Given the description of an element on the screen output the (x, y) to click on. 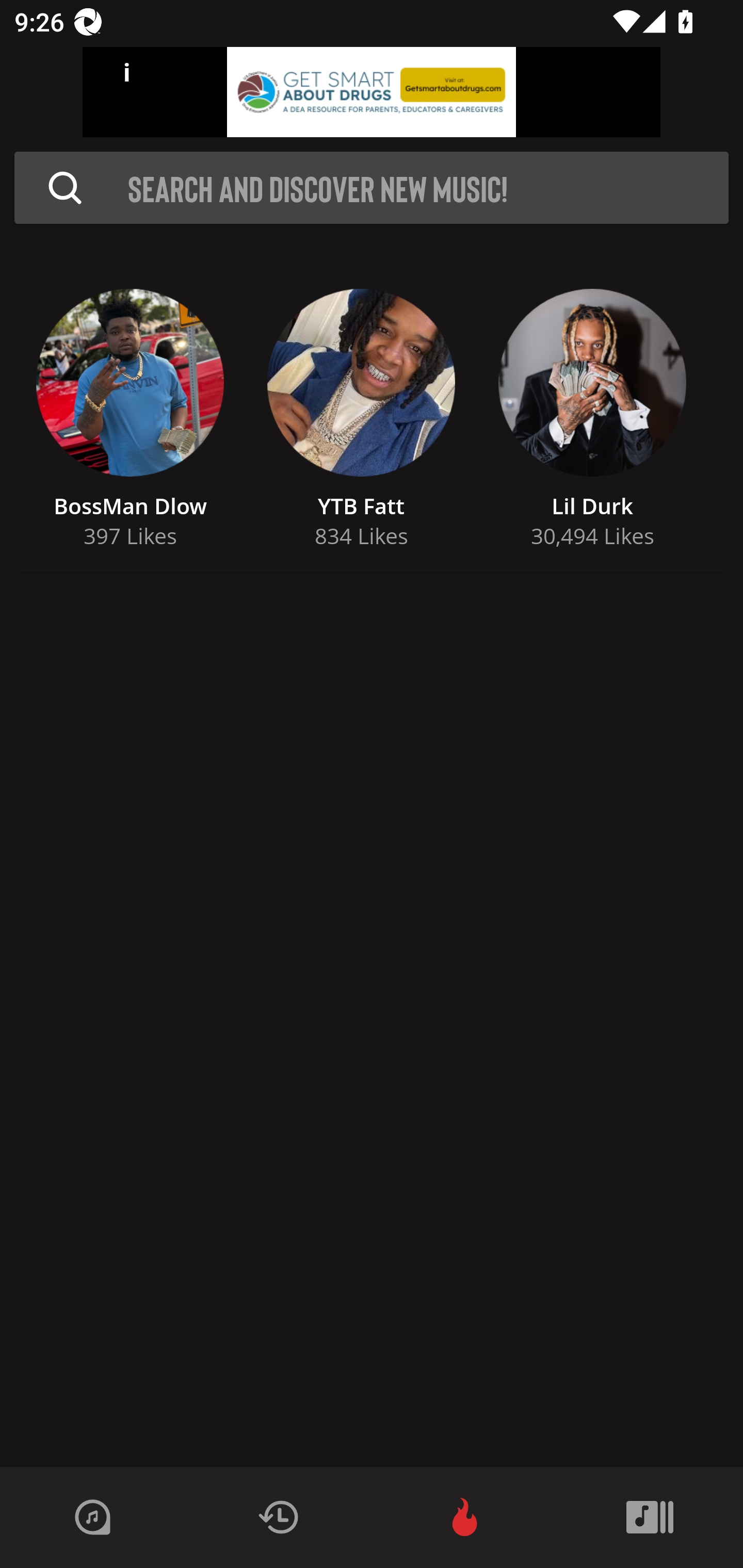
SEARCH AND DISCOVER NEW MUSIC! (427, 188)
Description (64, 188)
Description BossMan Dlow 397 Likes (129, 413)
Description YTB Fatt 834 Likes (360, 413)
Description Lil Durk 30,494 Likes (591, 413)
